Given the description of an element on the screen output the (x, y) to click on. 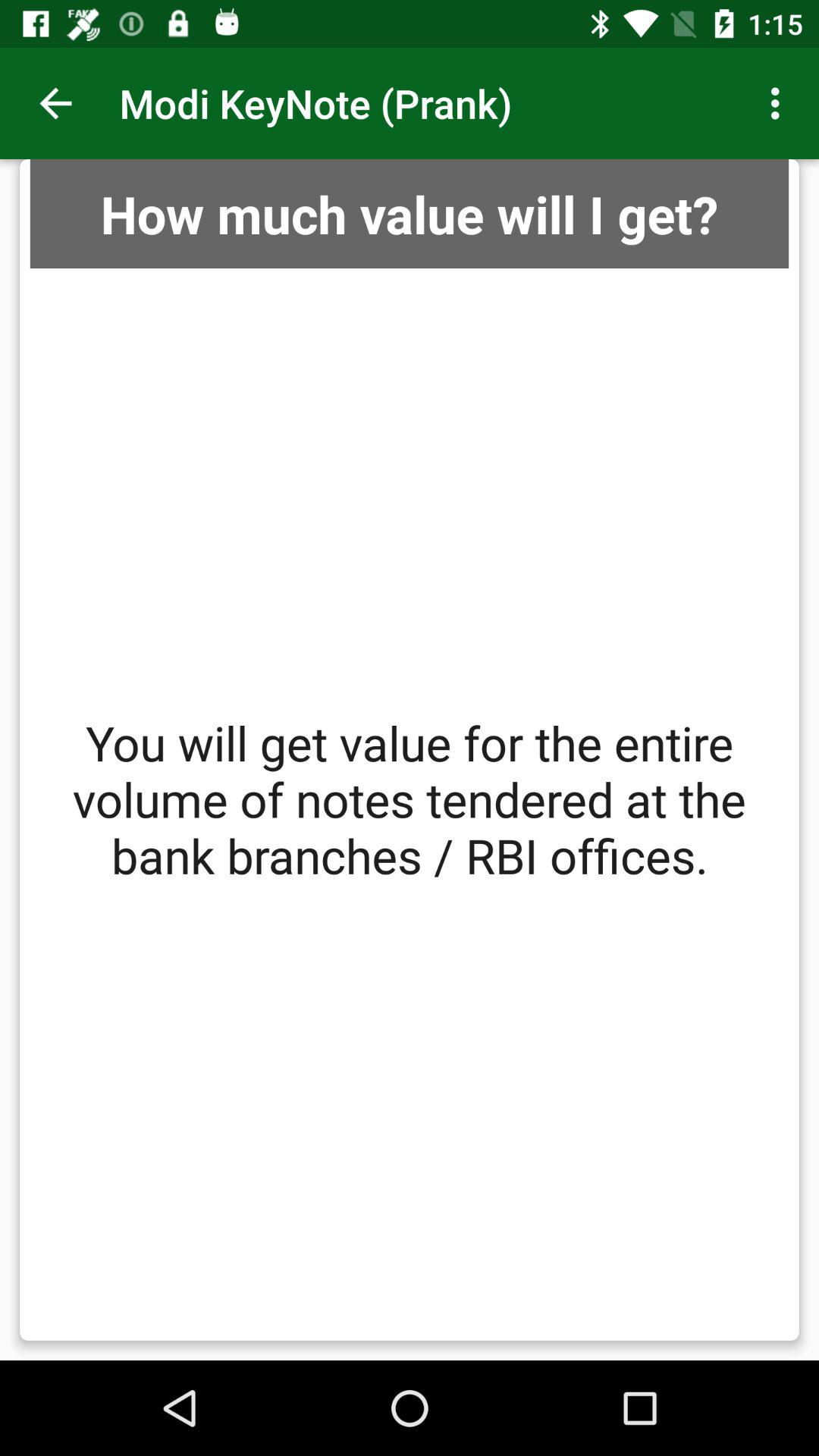
open the icon to the left of the modi keynote (prank) (55, 103)
